Given the description of an element on the screen output the (x, y) to click on. 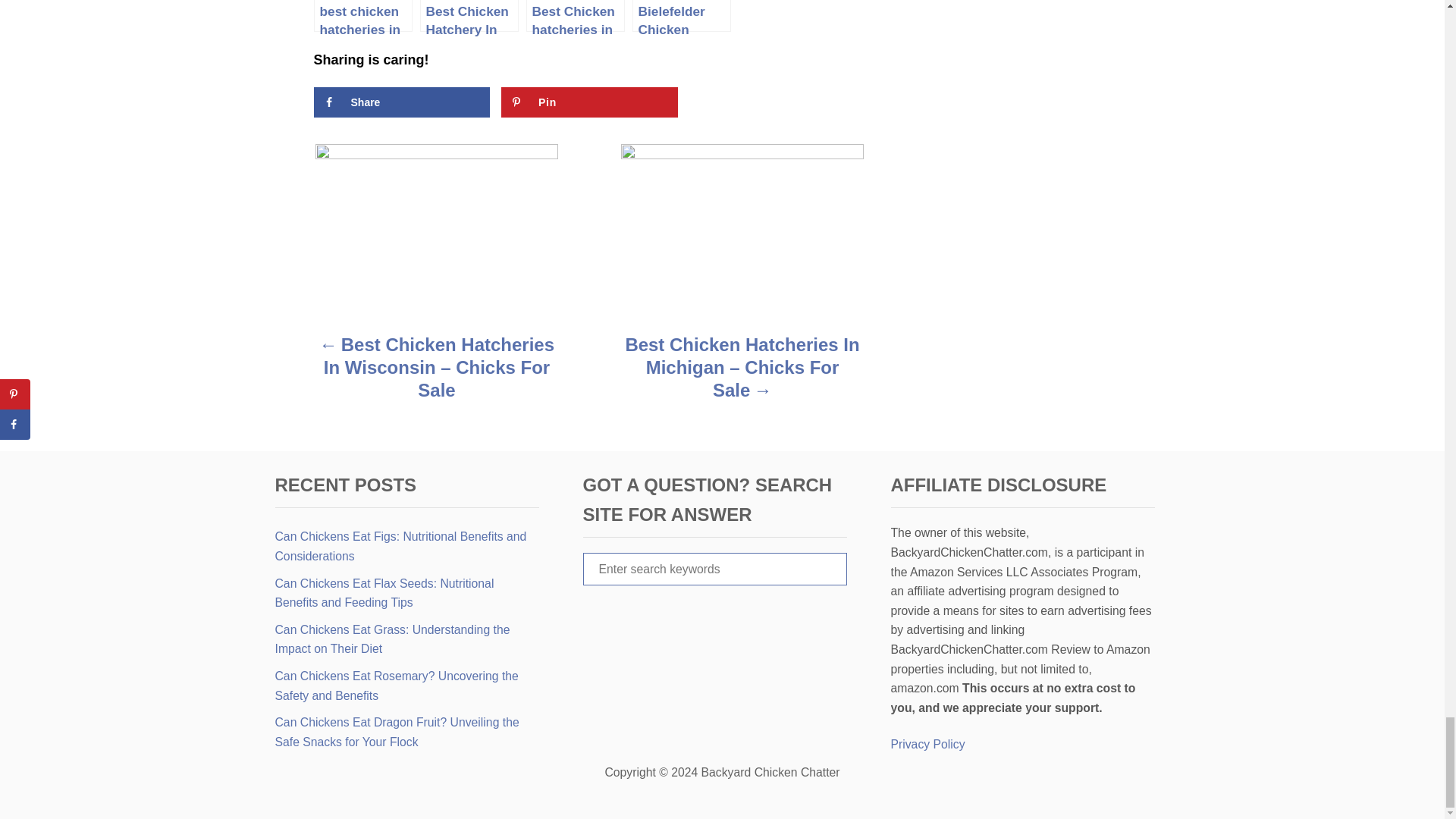
Bielefelder Chicken Breed And What You Need To Know (680, 15)
Save to Pinterest (589, 101)
Search for: (713, 568)
Share on Facebook (402, 101)
Share (402, 101)
Pin (589, 101)
Bielefelder Chicken Breed And What You Need To Know (680, 15)
